Given the description of an element on the screen output the (x, y) to click on. 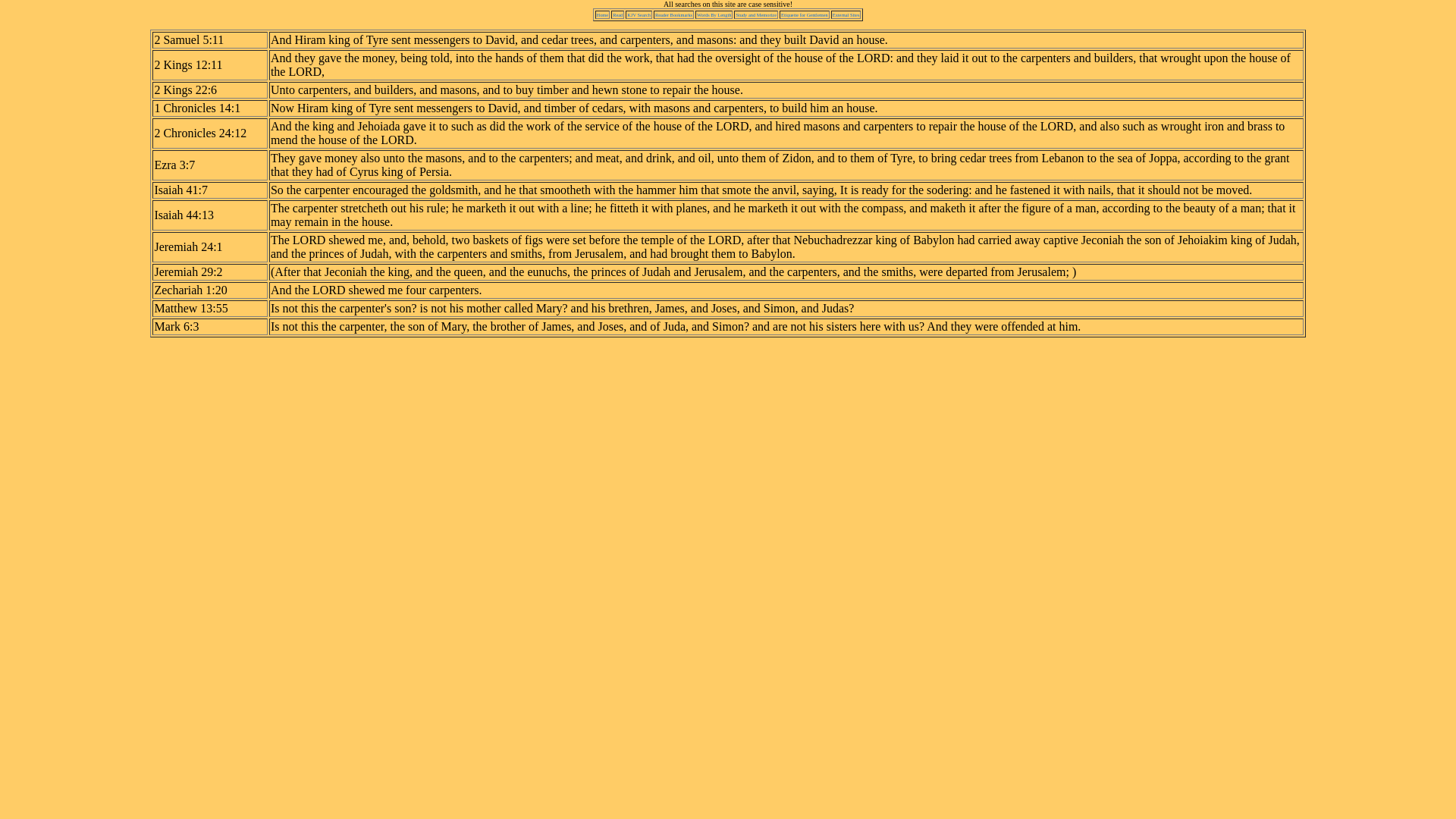
Reader Bookmarks (674, 14)
Home (602, 14)
External Sites (846, 14)
Read (617, 14)
Study and Memorize (755, 14)
Words By Length (713, 14)
Etiquette for Gentlemen (804, 14)
KJV Search (638, 14)
